Given the description of an element on the screen output the (x, y) to click on. 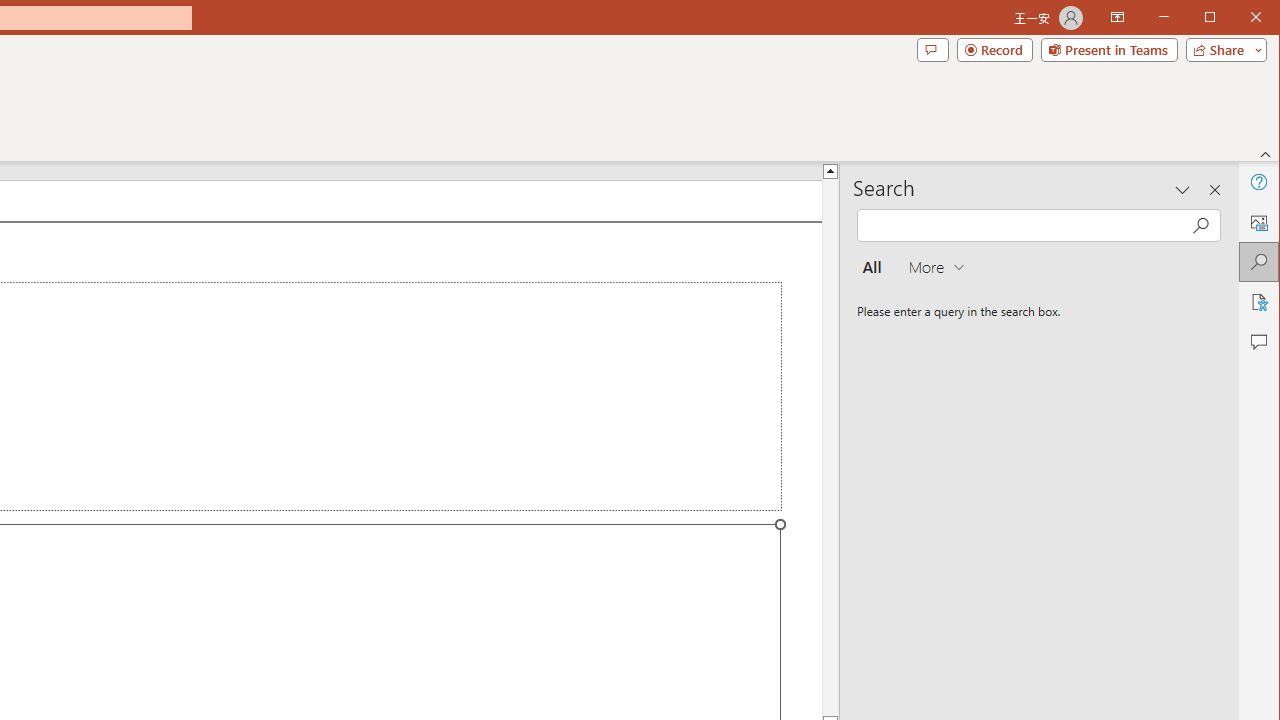
Ribbon Display Options (1117, 17)
Close pane (1215, 189)
Comments (1258, 341)
Search (1258, 261)
Share (1222, 49)
Minimize (1216, 18)
Task Pane Options (1183, 189)
Alt Text (1258, 221)
Collapse the Ribbon (1266, 154)
Present in Teams (1108, 49)
Accessibility (1258, 301)
Line up (829, 170)
